Given the description of an element on the screen output the (x, y) to click on. 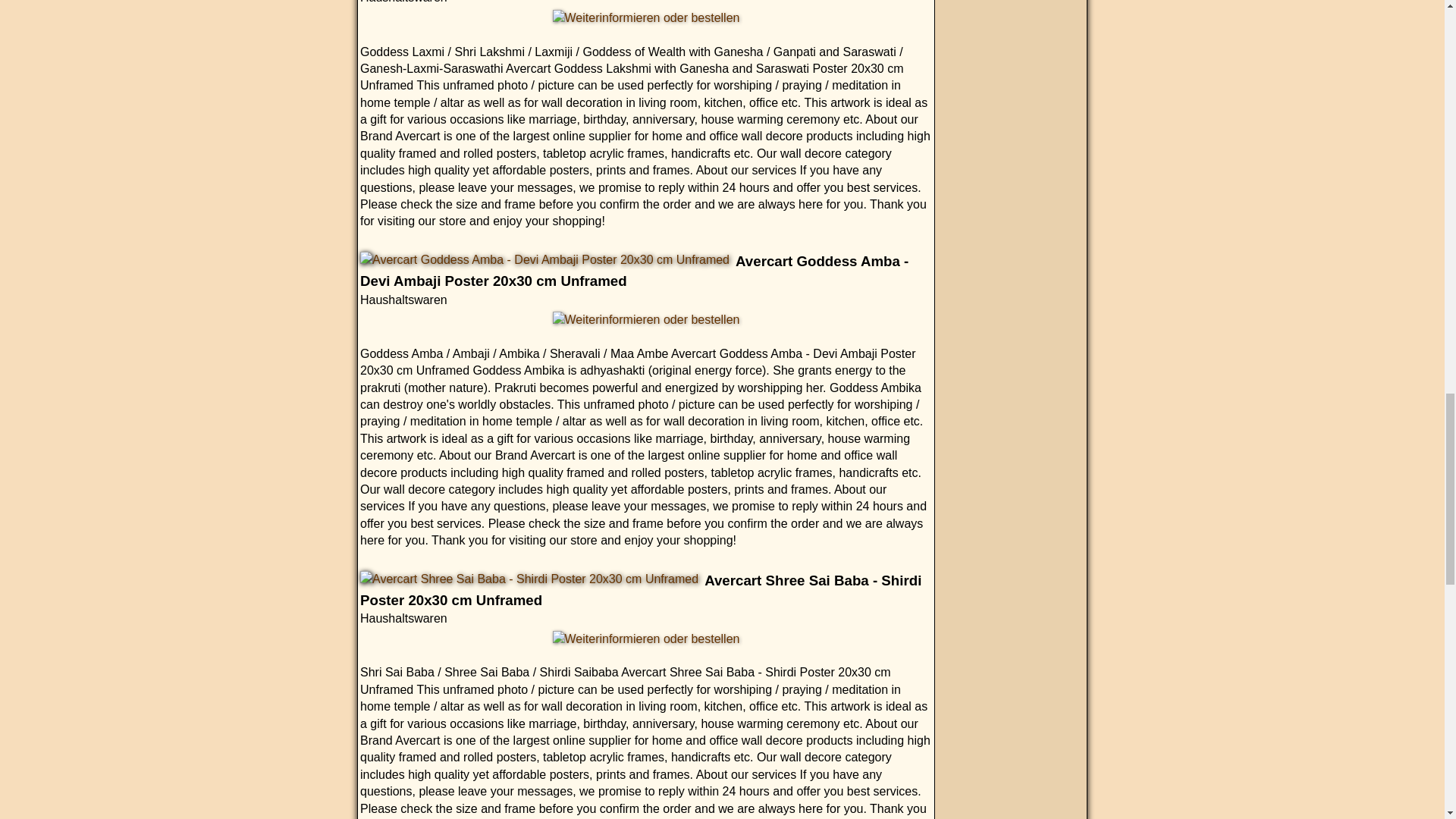
Weiterinformieren oder bestellen (646, 17)
Avercart Goddess Amba - Devi Ambaji Poster 20x30 cm Unframed (544, 259)
Avercart Shree Sai Baba - Shirdi Poster 20x30 cm Unframed (528, 579)
Weiterinformieren oder bestellen (646, 638)
Weiterinformieren oder bestellen (646, 320)
